Given the description of an element on the screen output the (x, y) to click on. 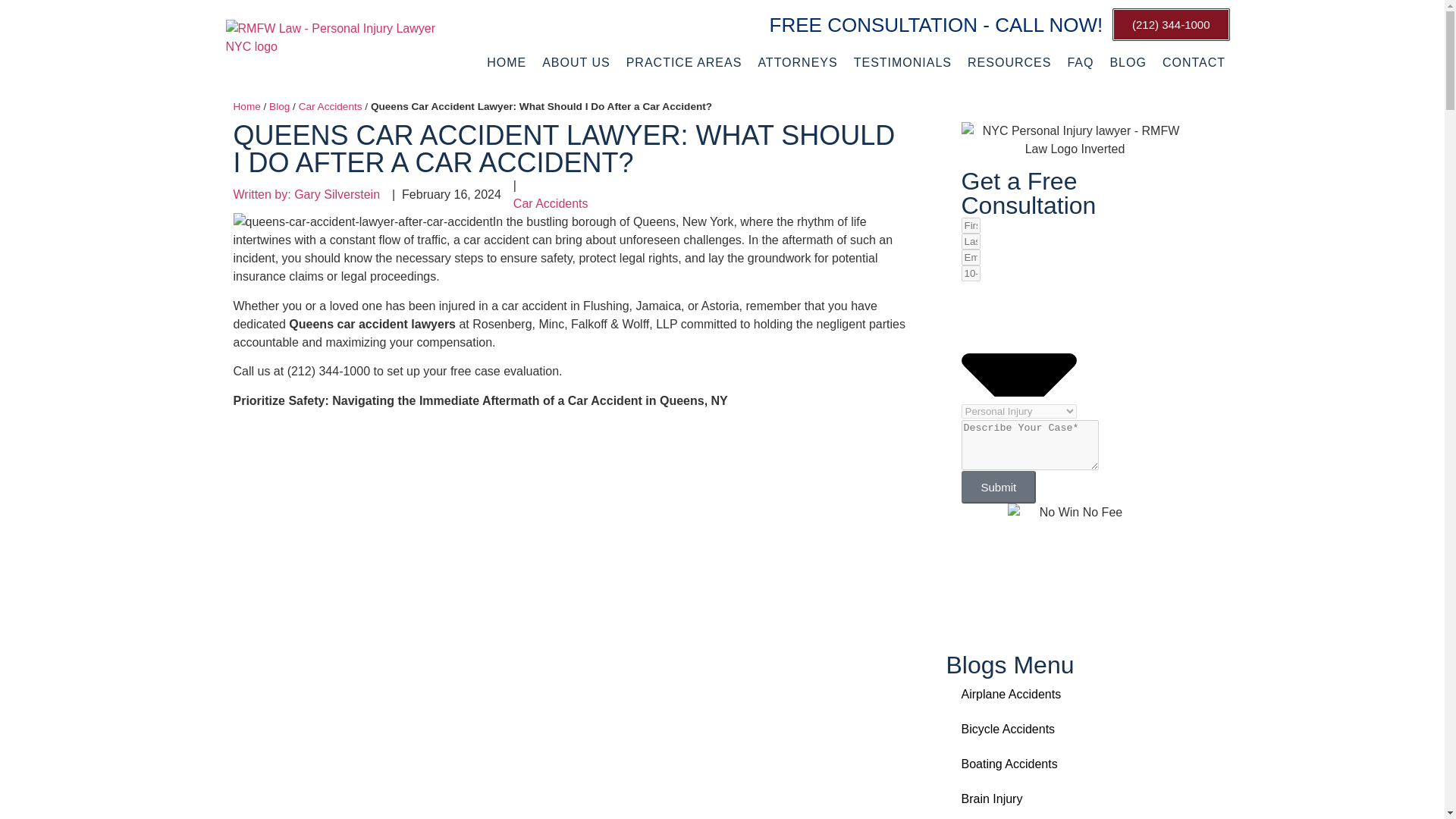
HOME (506, 62)
rmfw-law-logo (335, 42)
PRACTICE AREAS (684, 62)
ABOUT US (576, 62)
